Given the description of an element on the screen output the (x, y) to click on. 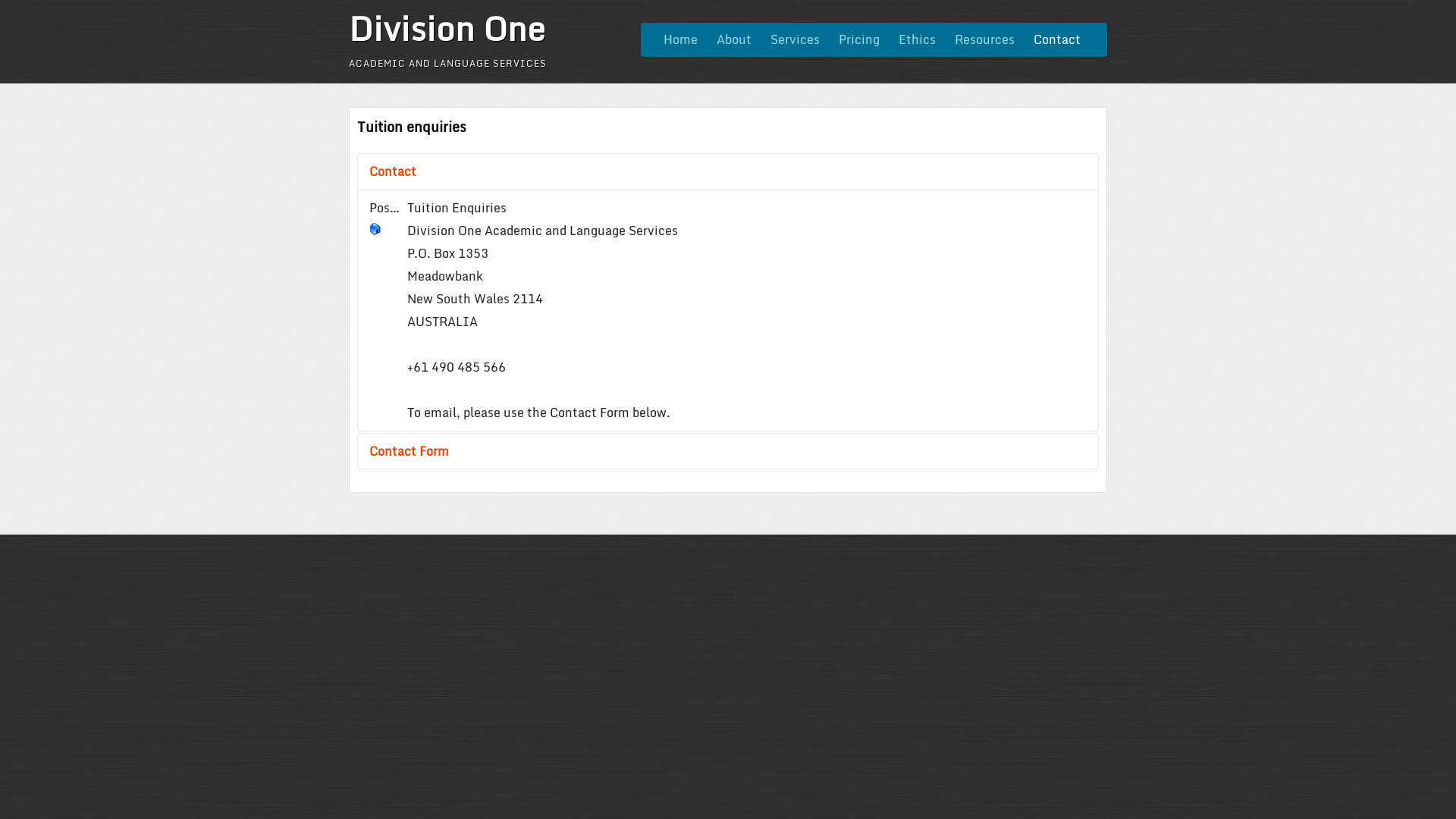
Pricing Element type: text (859, 39)
Contact Element type: text (727, 170)
About Element type: text (734, 39)
Resources Element type: text (984, 39)
Contact Form Element type: text (727, 450)
Contact Element type: text (1057, 39)
Ethics Element type: text (917, 39)
Division One Element type: text (446, 27)
Services Element type: text (794, 39)
Home Element type: text (680, 39)
